Given the description of an element on the screen output the (x, y) to click on. 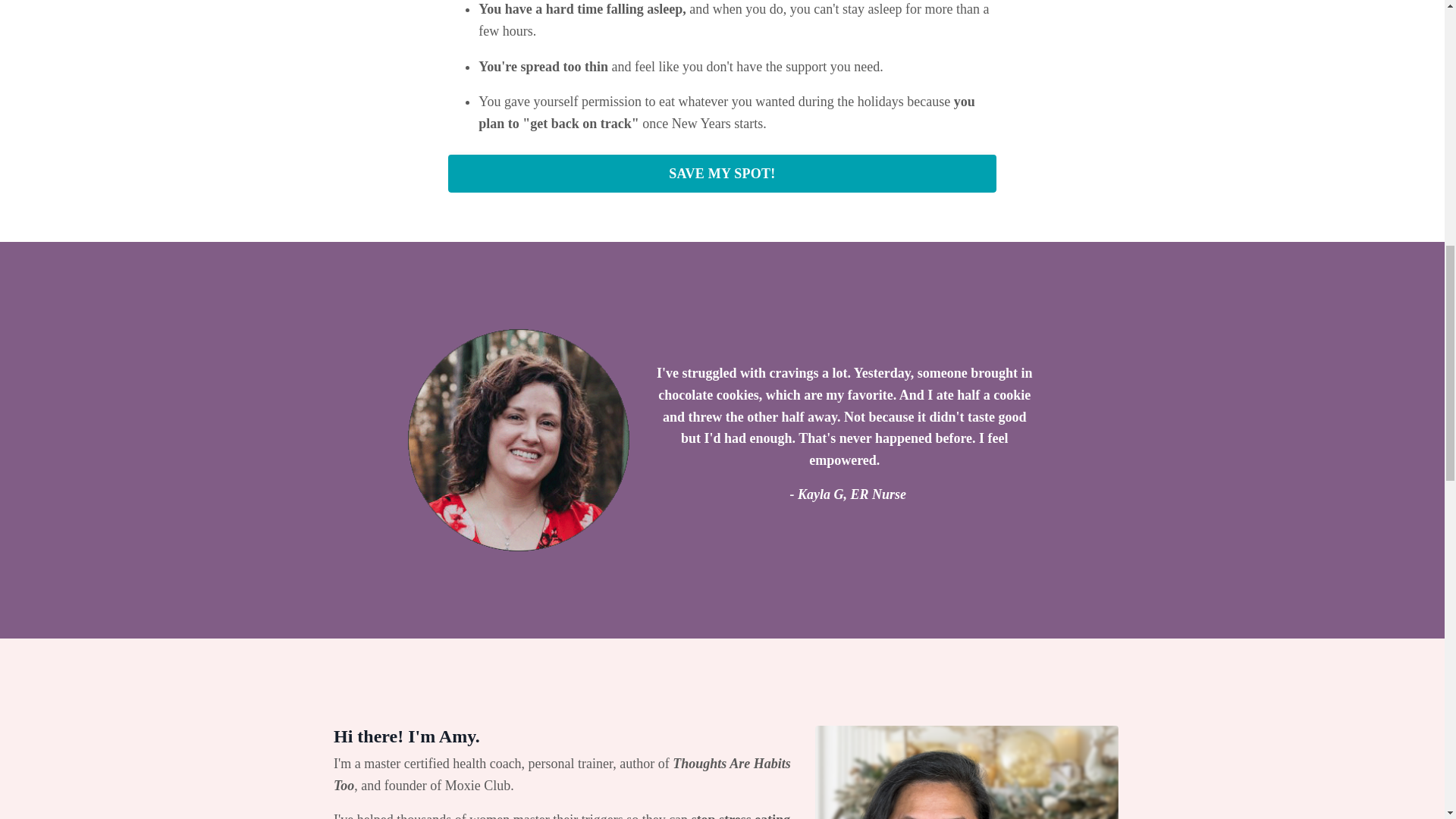
SAVE MY SPOT! (721, 173)
